Given the description of an element on the screen output the (x, y) to click on. 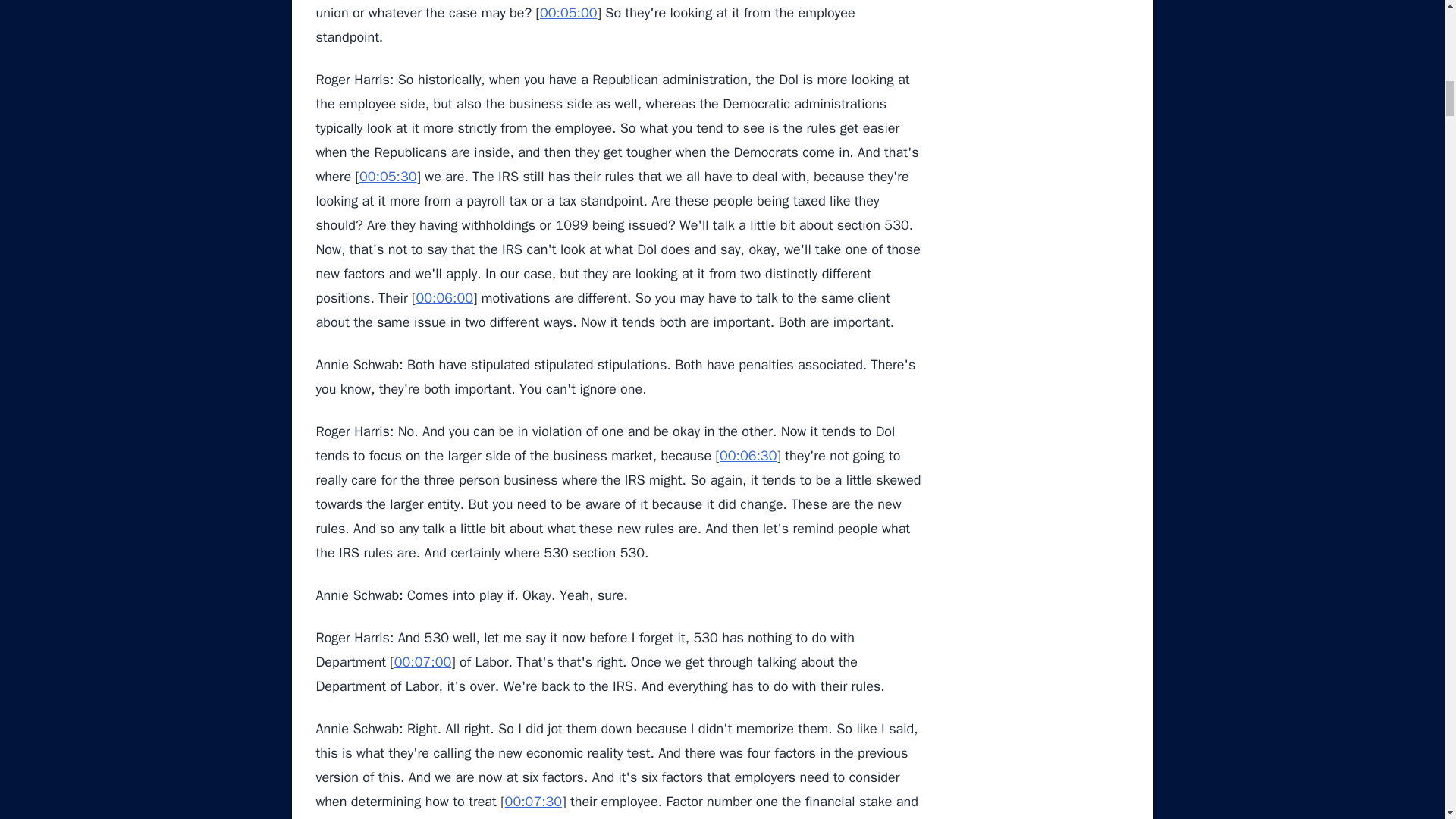
00:06:30 (748, 455)
00:05:00 (568, 12)
00:07:00 (422, 661)
00:07:30 (533, 801)
00:06:00 (443, 297)
00:05:30 (387, 176)
